Given the description of an element on the screen output the (x, y) to click on. 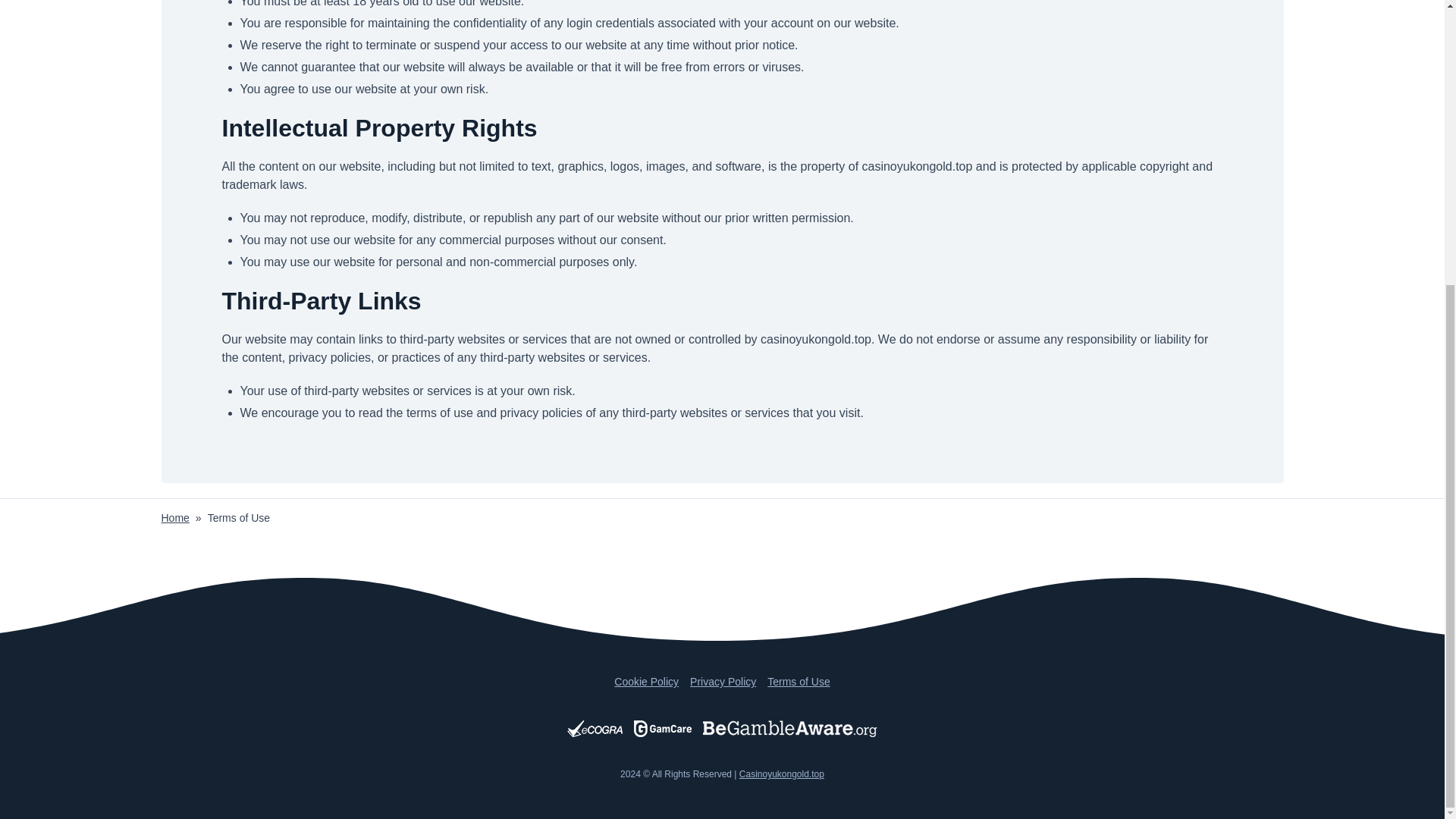
Home (174, 517)
Casinoyukongold.top (781, 774)
Cookie Policy (646, 682)
BeGambleAware (790, 728)
Privacy Policy (722, 682)
eCogra (595, 728)
Terms of Use (798, 682)
GamCare (662, 728)
